Given the description of an element on the screen output the (x, y) to click on. 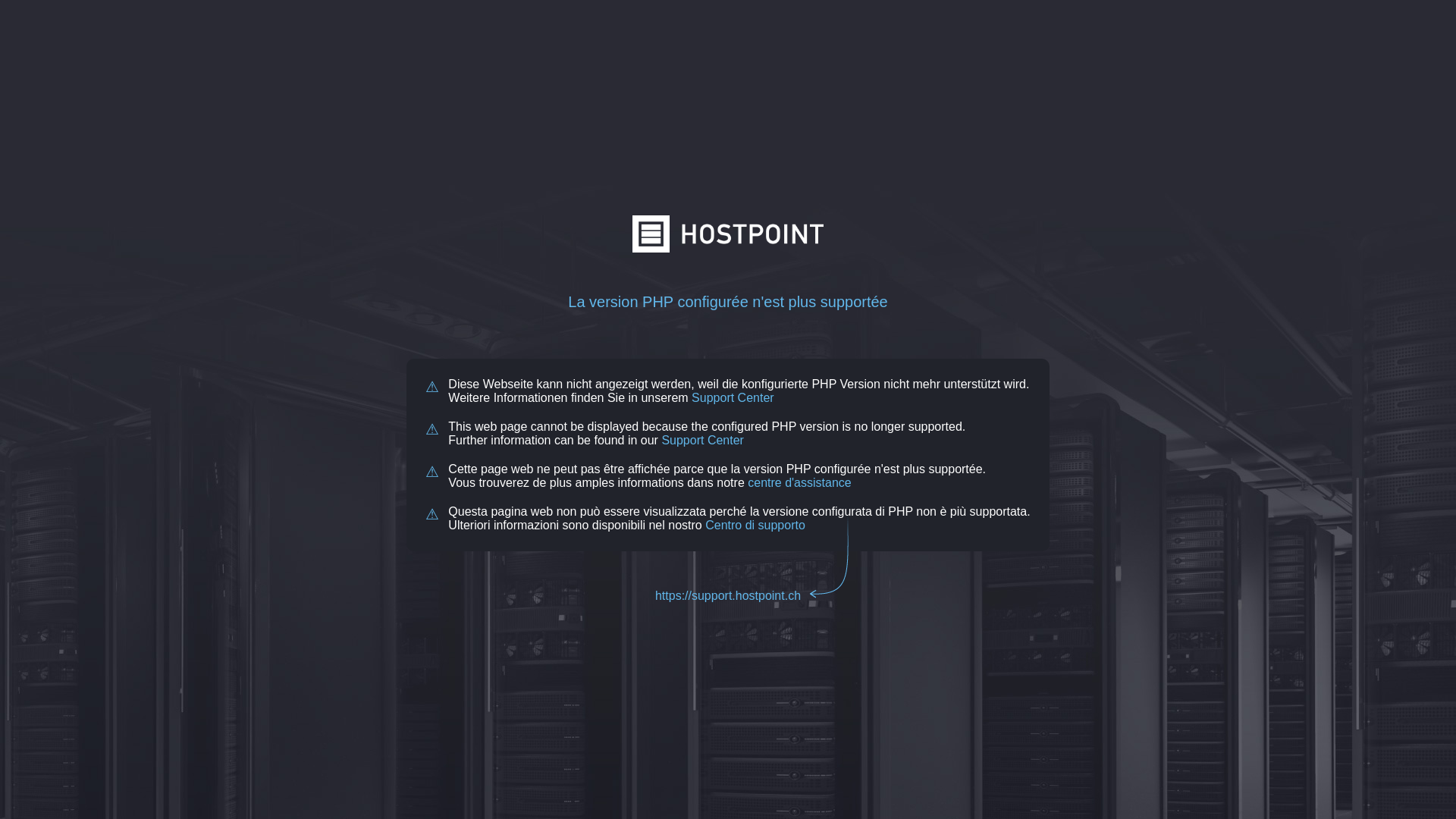
Support Center (732, 397)
centre d'assistance (799, 481)
Support Center (702, 440)
Centro di supporto (754, 524)
